Given the description of an element on the screen output the (x, y) to click on. 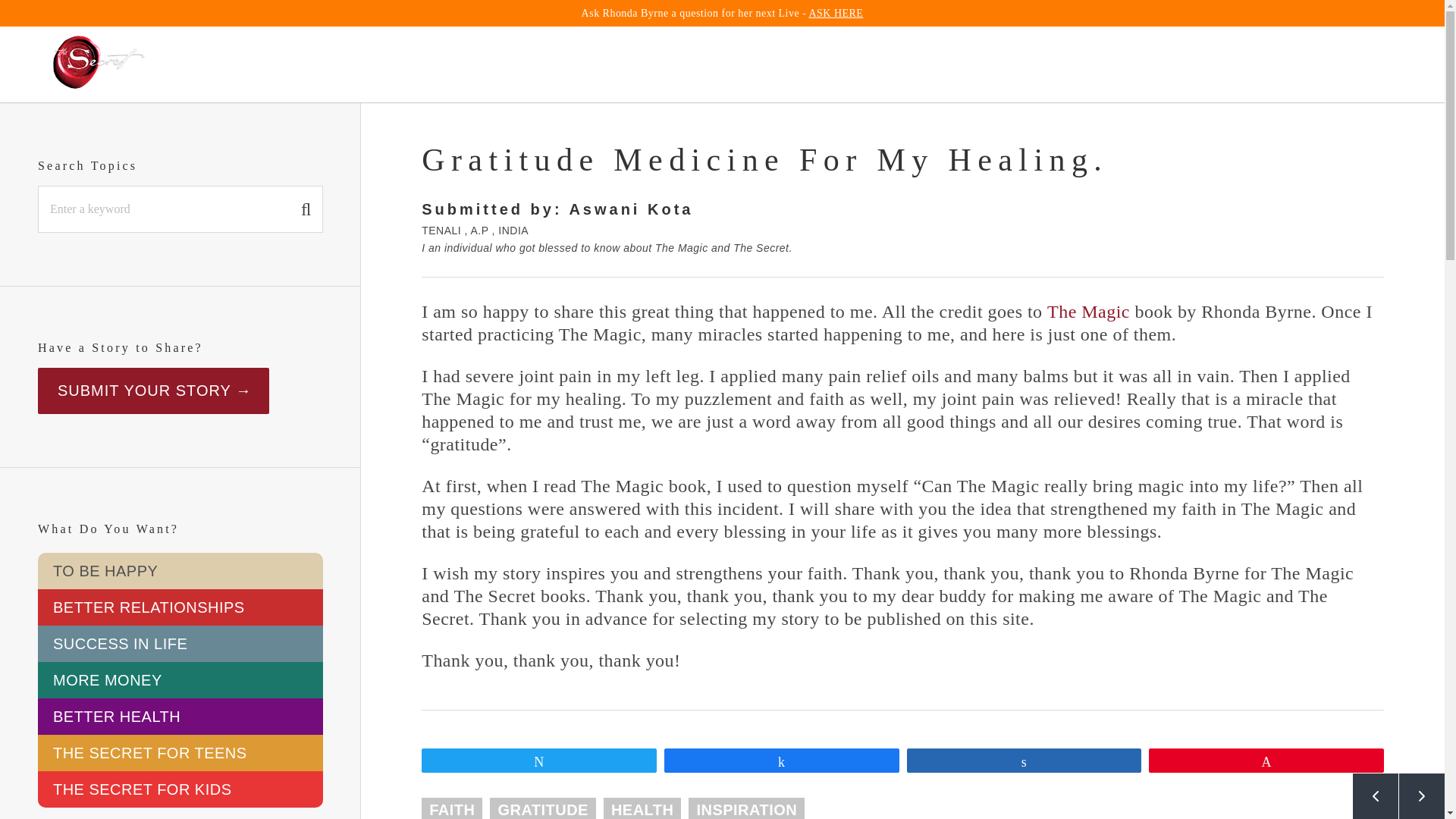
ABOUT (850, 64)
The Official Website of The Secret (98, 64)
PRODUCTS (951, 64)
GIFTS FOR YOU (1163, 64)
EXPLORE (631, 64)
RHONDA TV (746, 64)
Ask Rhonda Byrne a question for her next Live - ASK HERE (721, 12)
